Given the description of an element on the screen output the (x, y) to click on. 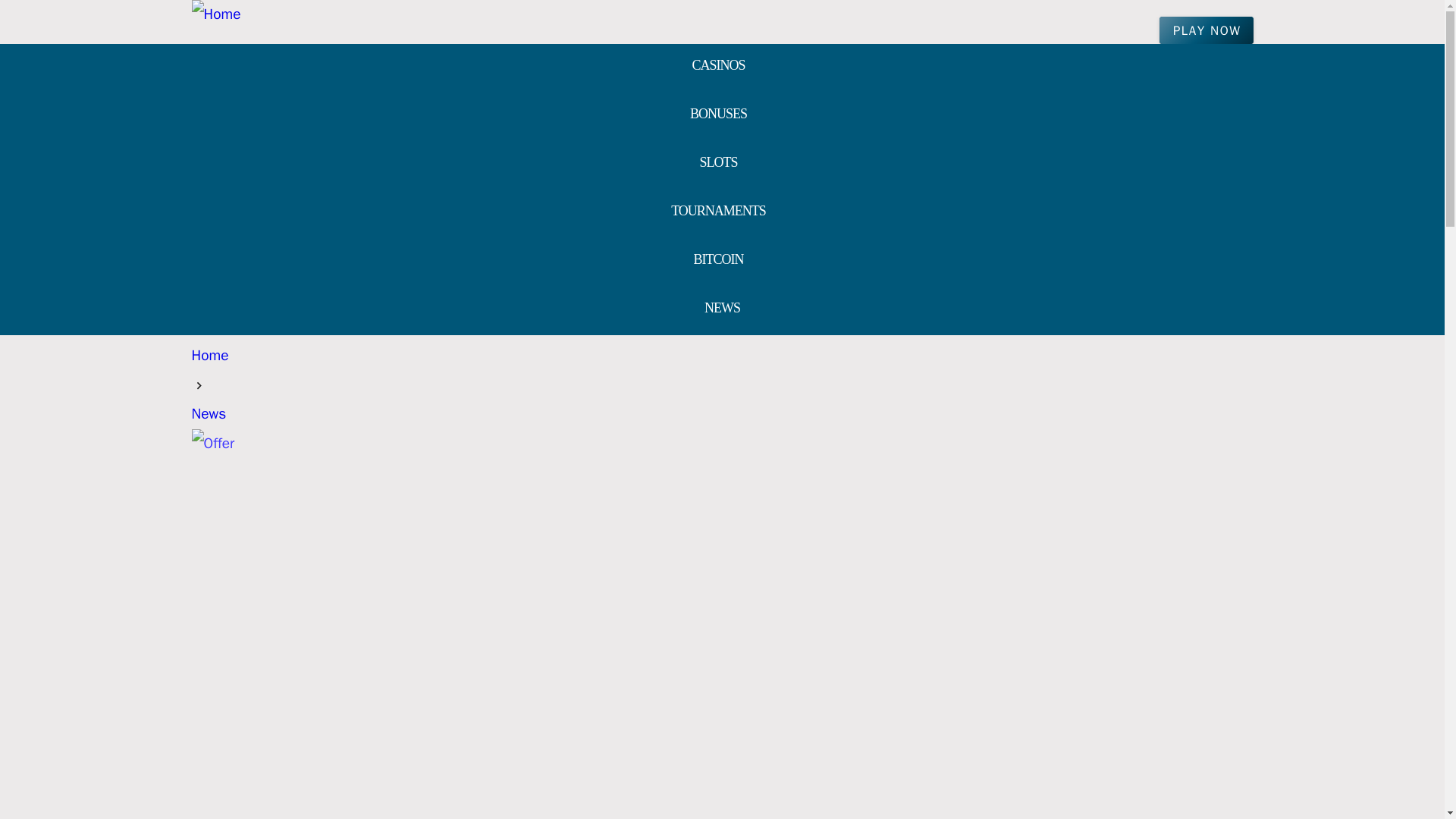
NEWS (721, 309)
TOURNAMENTS (718, 212)
CASINOS (718, 66)
PLAY NOW (1205, 30)
News (207, 413)
SLOTS (718, 163)
Home (209, 355)
BONUSES (718, 115)
BITCOIN (718, 260)
